Given the description of an element on the screen output the (x, y) to click on. 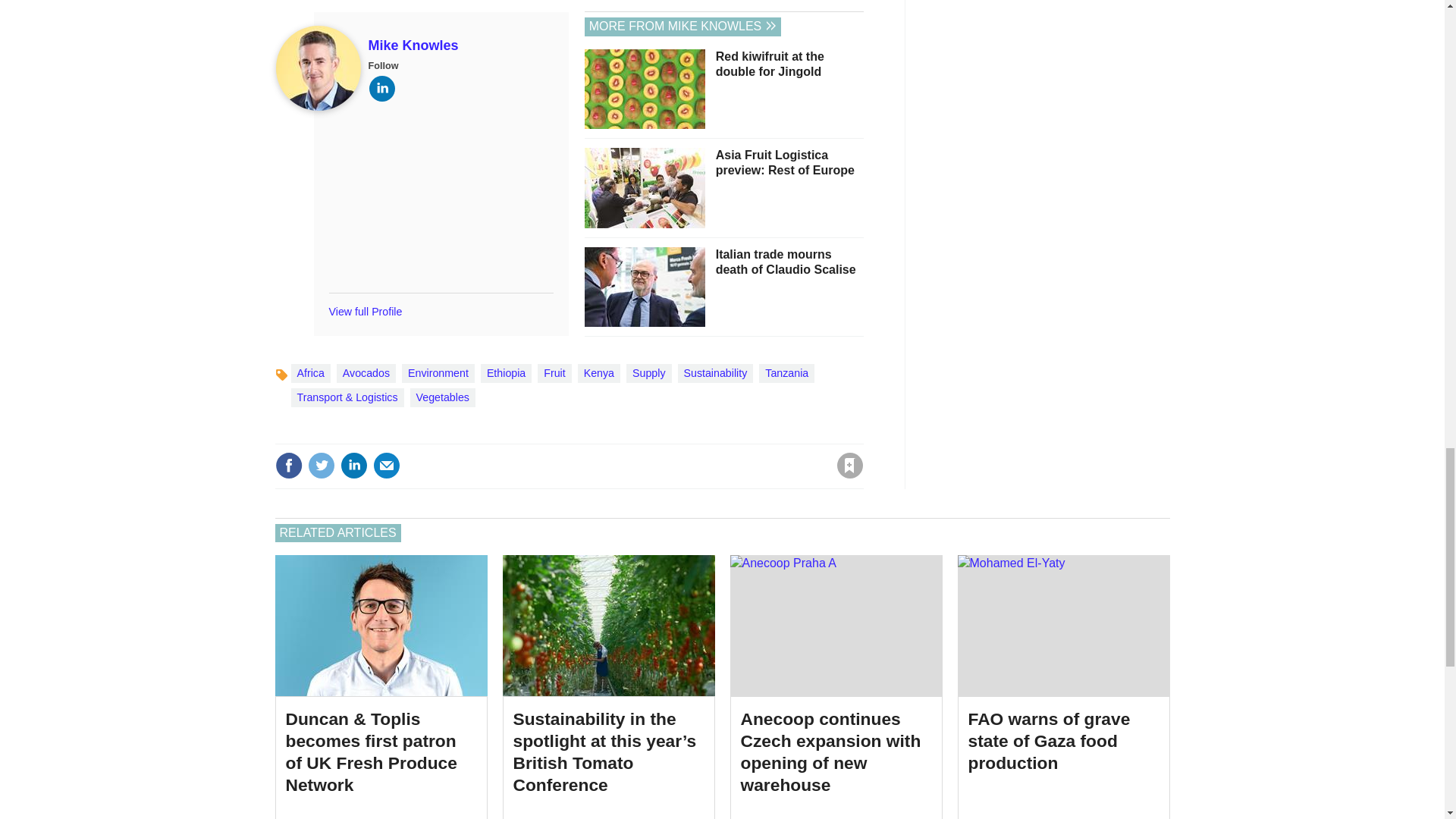
Share this on Twitter (320, 465)
Share this on Facebook (288, 465)
Share this on Linked in (352, 465)
Email this article (386, 465)
